Given the description of an element on the screen output the (x, y) to click on. 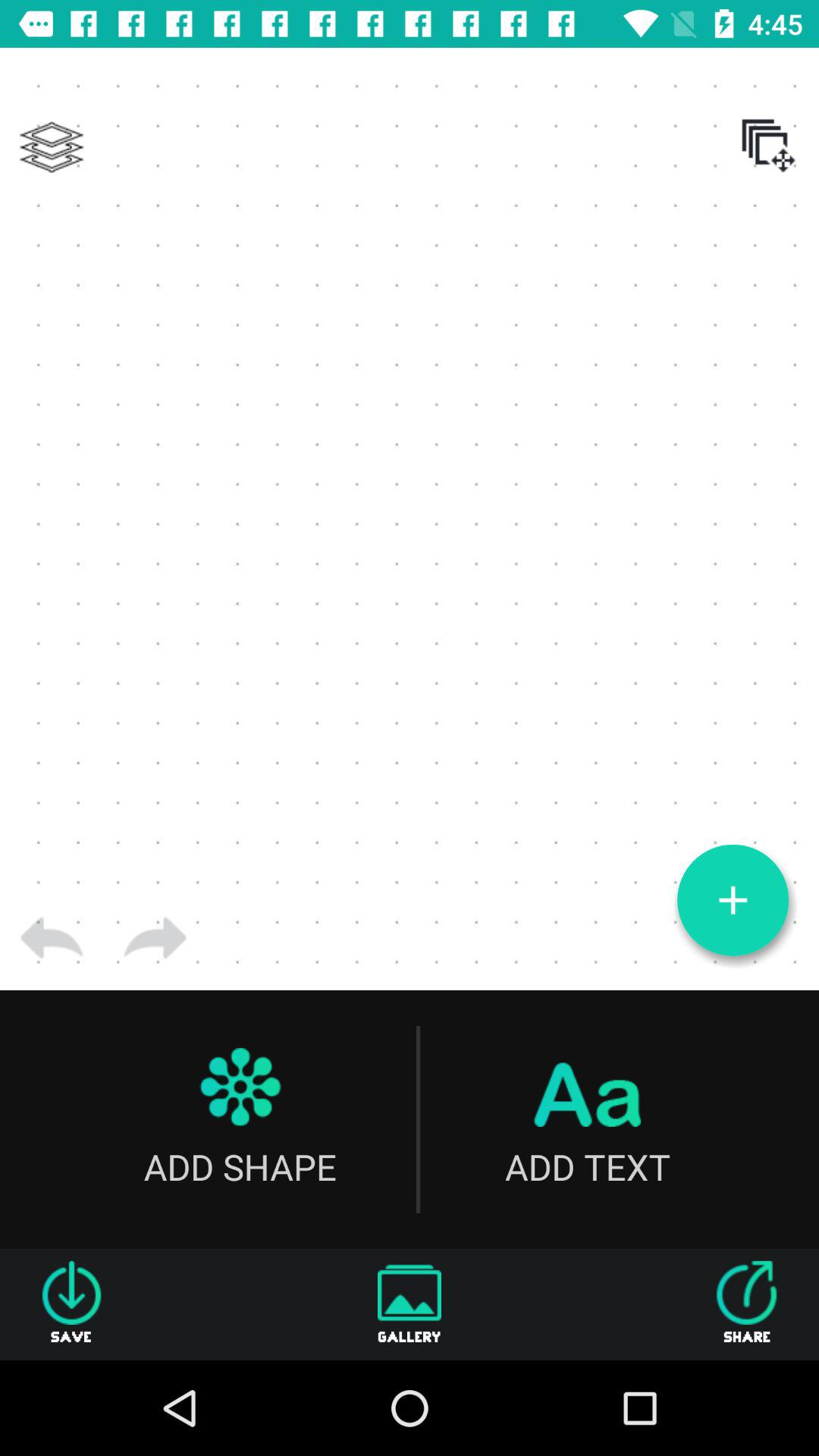
go back (51, 938)
